Given the description of an element on the screen output the (x, y) to click on. 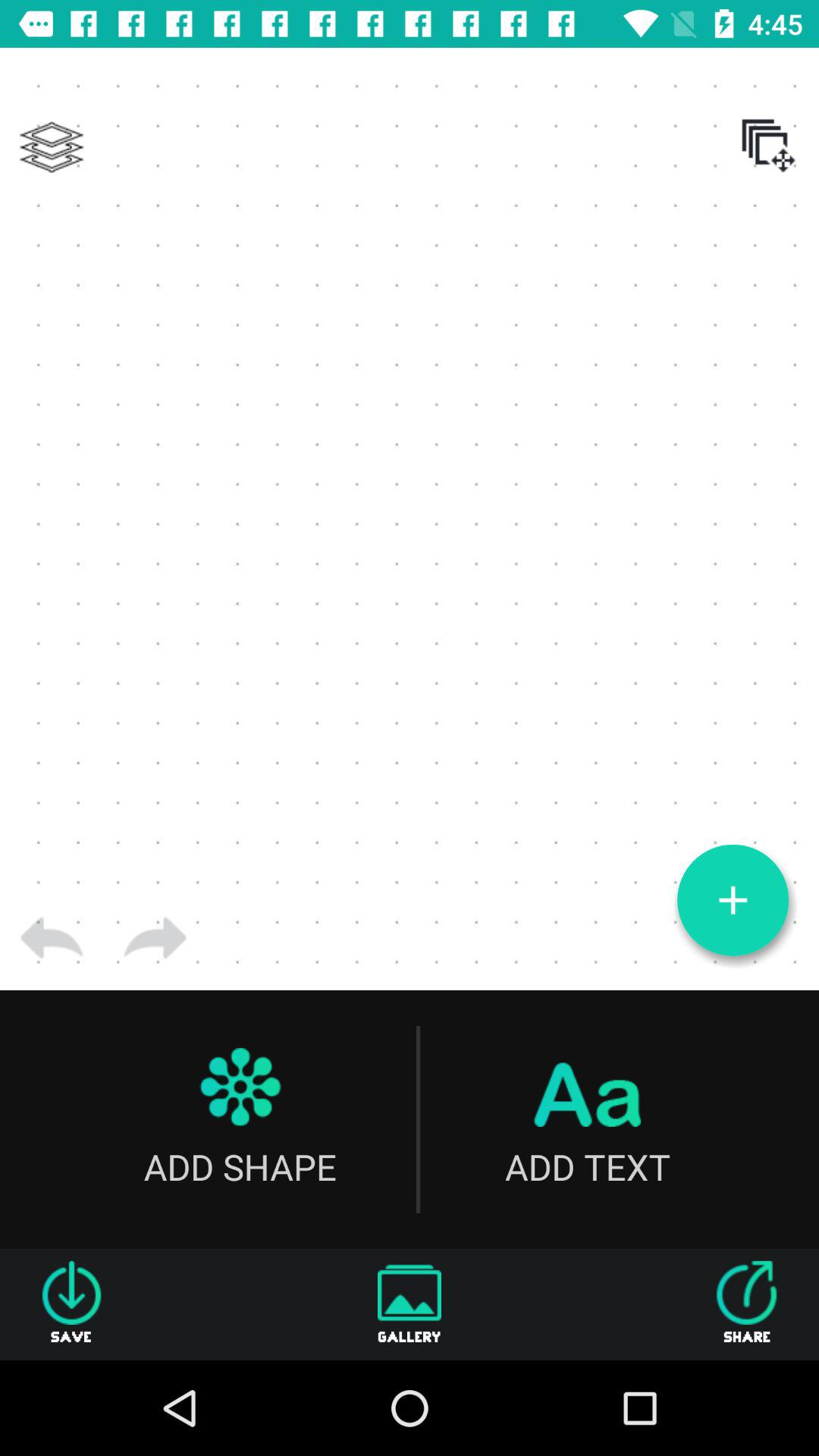
go back (51, 938)
